Given the description of an element on the screen output the (x, y) to click on. 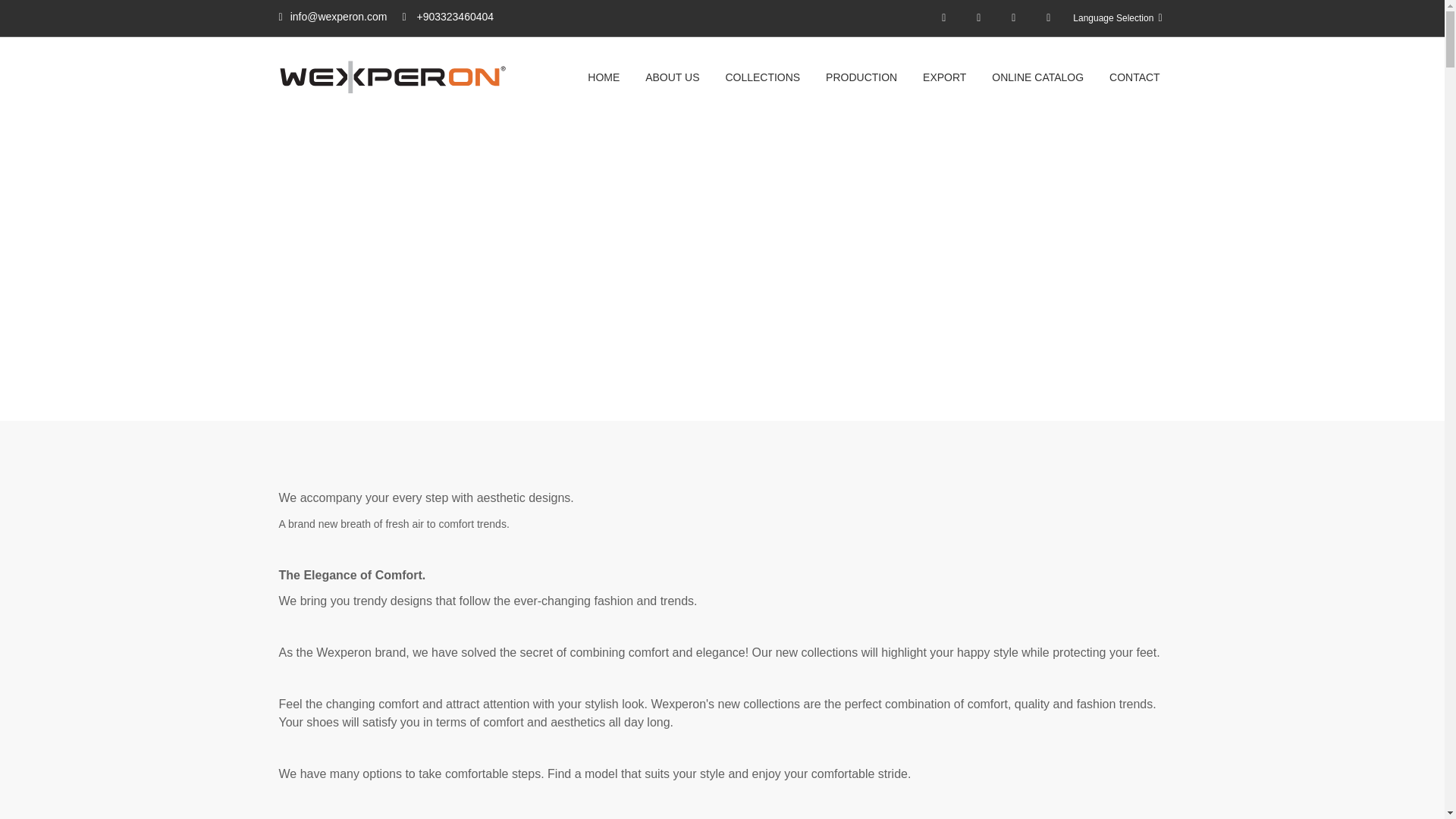
ONLINE CATALOG (1037, 76)
HOME (1031, 272)
COLLECTIONS (762, 76)
Language Selection (1117, 18)
